Given the description of an element on the screen output the (x, y) to click on. 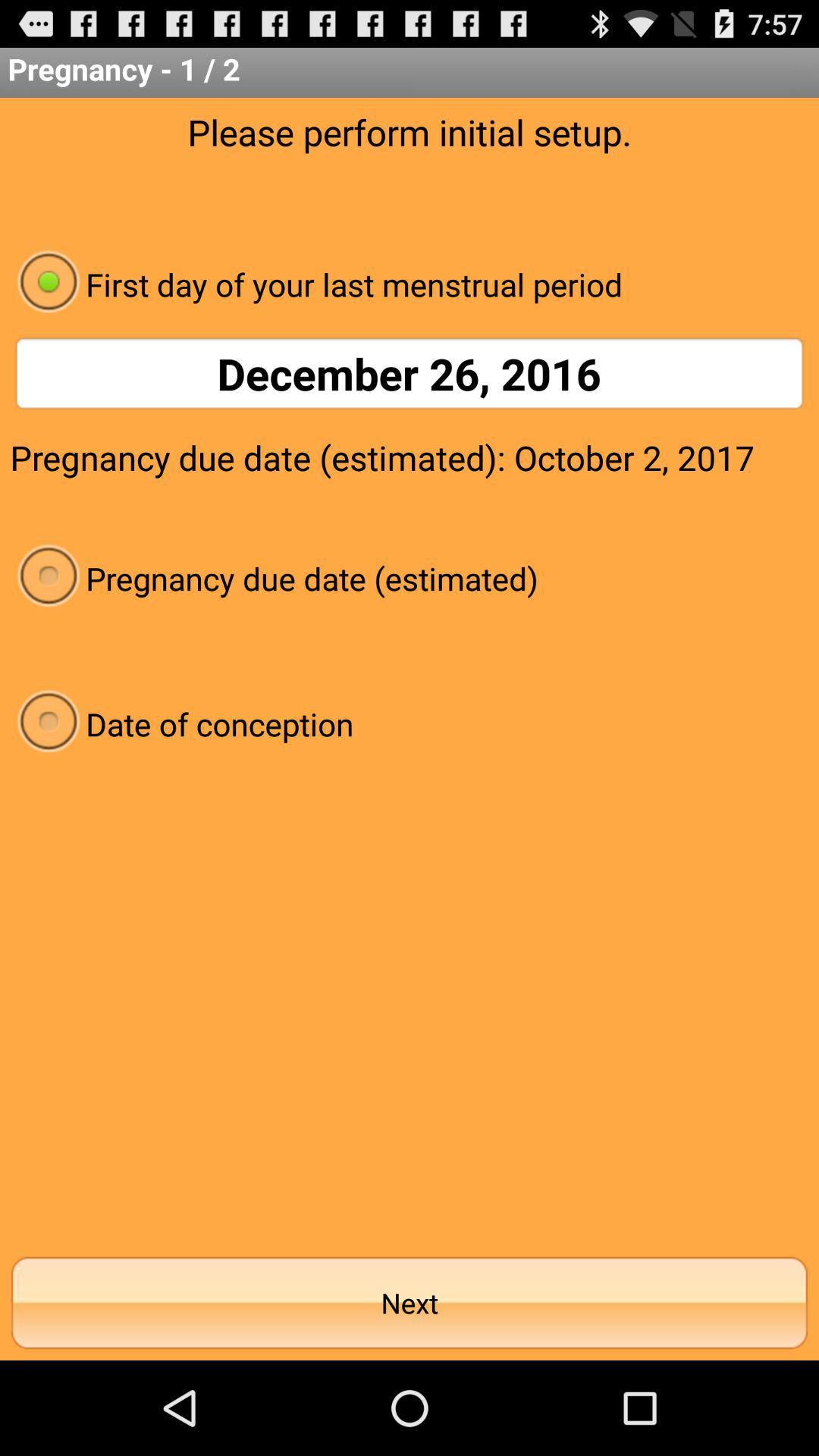
turn off next item (409, 1302)
